Given the description of an element on the screen output the (x, y) to click on. 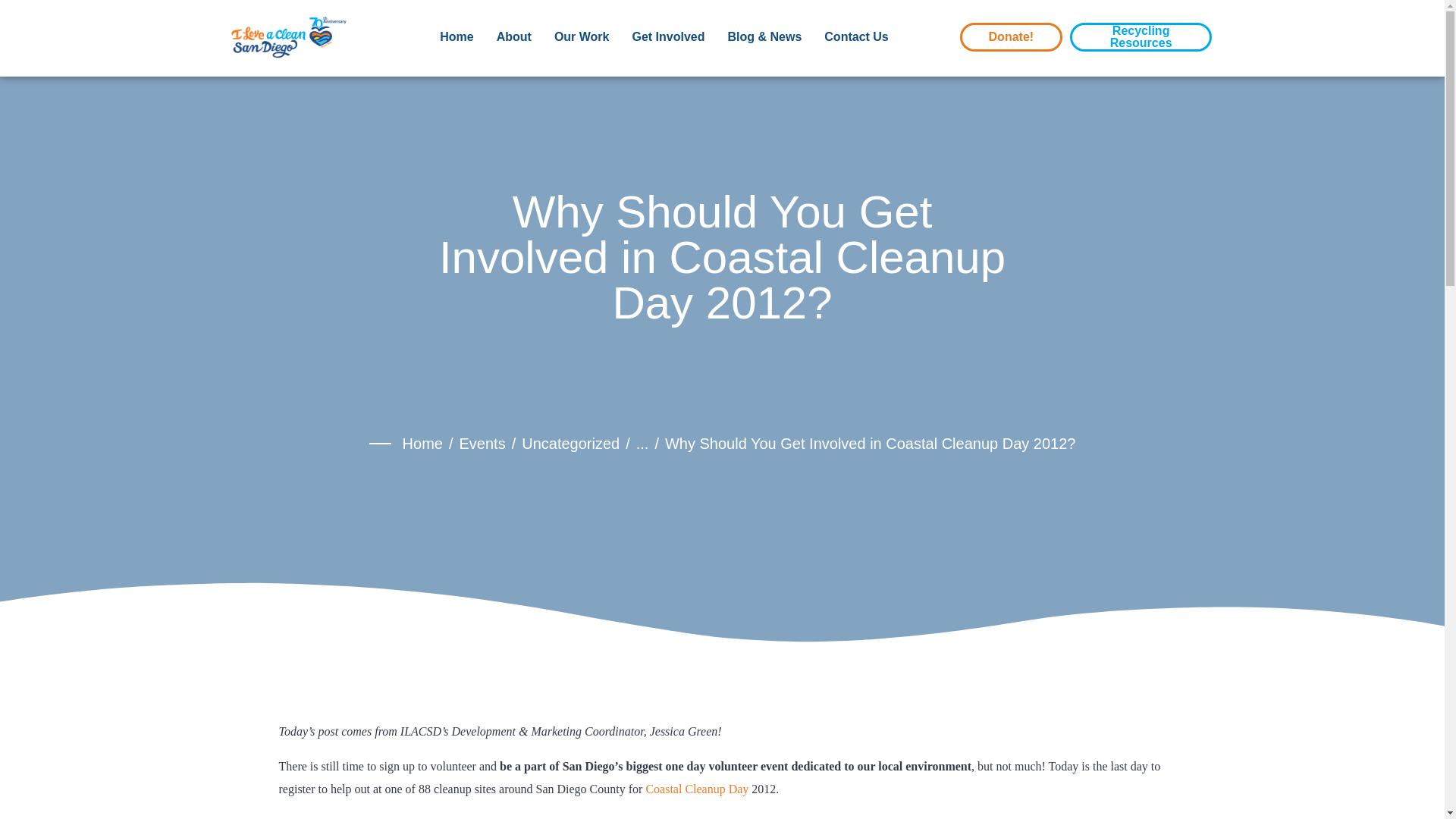
Coastal Cleanup Day San Diego (696, 788)
Our Work (582, 49)
About (513, 49)
Coastal Cleanup Day San Diego (512, 818)
Get Involved (667, 49)
